Given the description of an element on the screen output the (x, y) to click on. 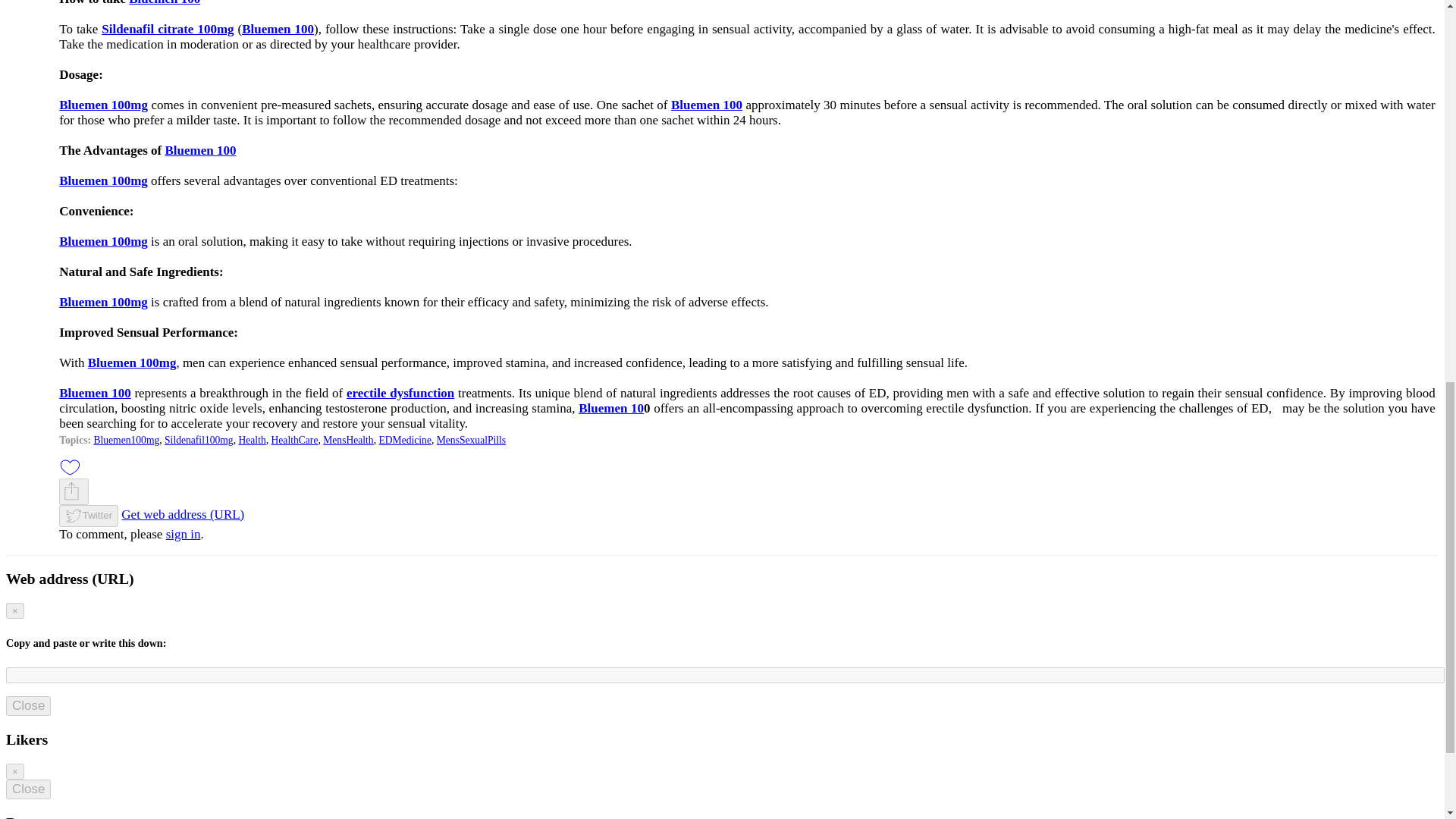
Bluemen 100 (706, 104)
Bluemen 100mg (103, 180)
Bluemen 100mg (103, 241)
Like (70, 467)
Sildenafil citrate 100mg (166, 29)
Bluemen 100 (164, 2)
Share (71, 491)
Bluemen 100 (277, 29)
Bluemen 100 (200, 150)
Bluemen 100mg (103, 301)
Bluemen 100mg (103, 104)
